Given the description of an element on the screen output the (x, y) to click on. 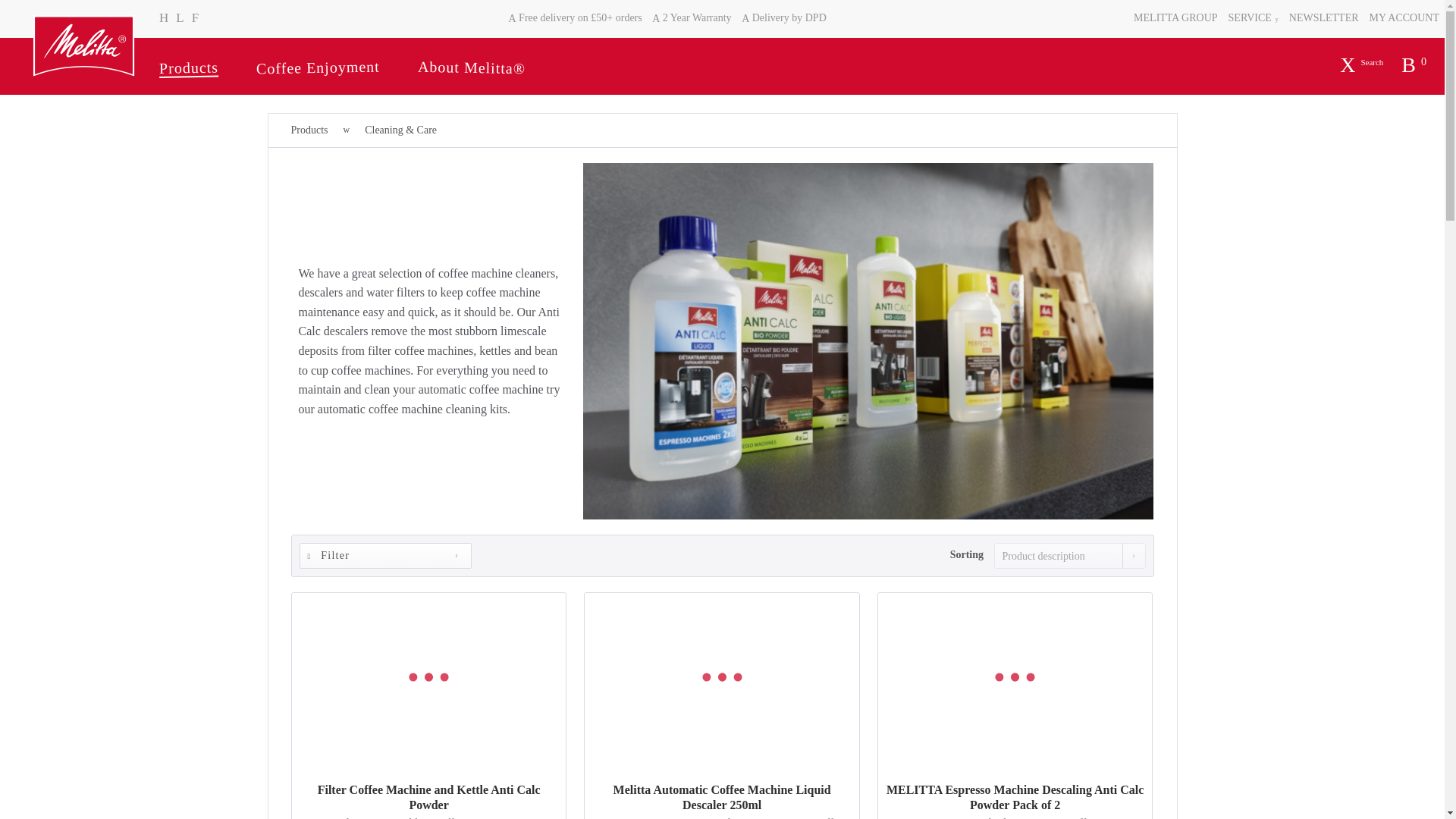
SERVICE (1253, 18)
Products (196, 66)
Service (1253, 18)
NEWSLETTER (1324, 18)
MELITTA GROUP (1175, 18)
Melitta Group (1175, 18)
